Given the description of an element on the screen output the (x, y) to click on. 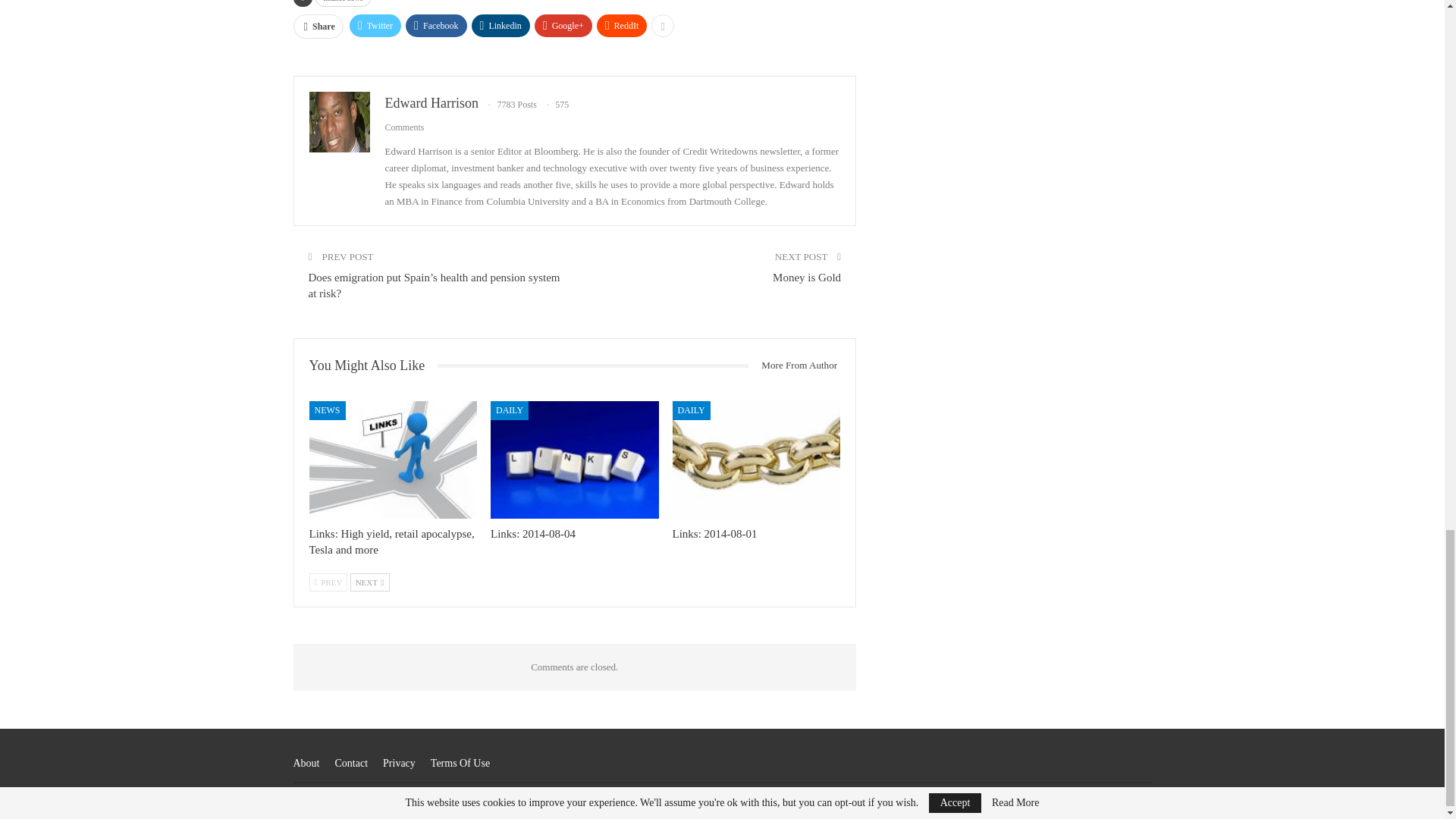
Links: 2014-08-01 (714, 533)
Next (370, 582)
Links: High yield, retail apocalypse, Tesla and more (391, 541)
Links: 2014-08-04 (532, 533)
Links: 2014-08-04 (574, 459)
Links: High yield, retail apocalypse, Tesla and more (392, 459)
Previous (327, 582)
Links: 2014-08-01 (756, 459)
